Given the description of an element on the screen output the (x, y) to click on. 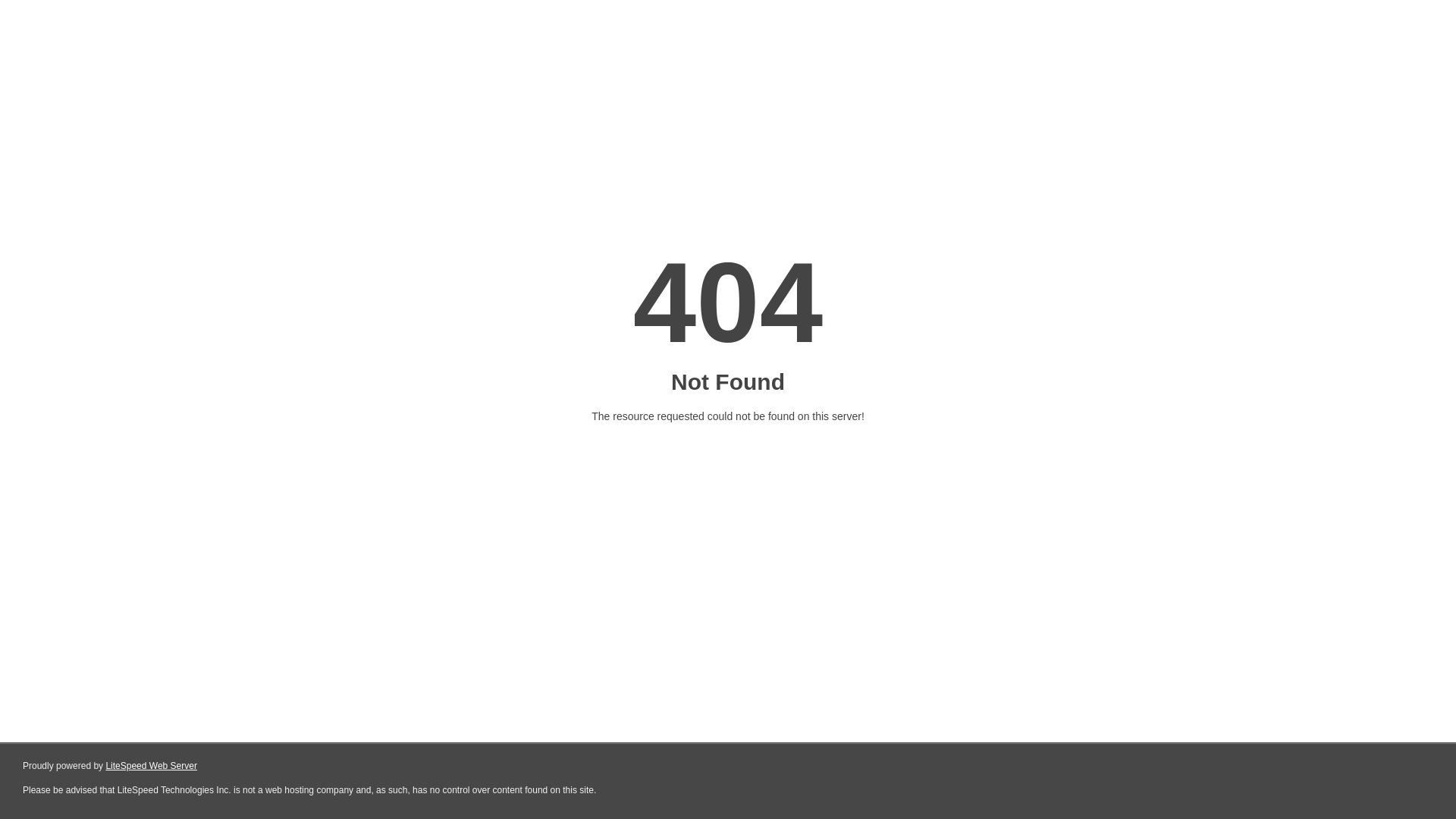
LiteSpeed Web Server Element type: text (151, 765)
